Given the description of an element on the screen output the (x, y) to click on. 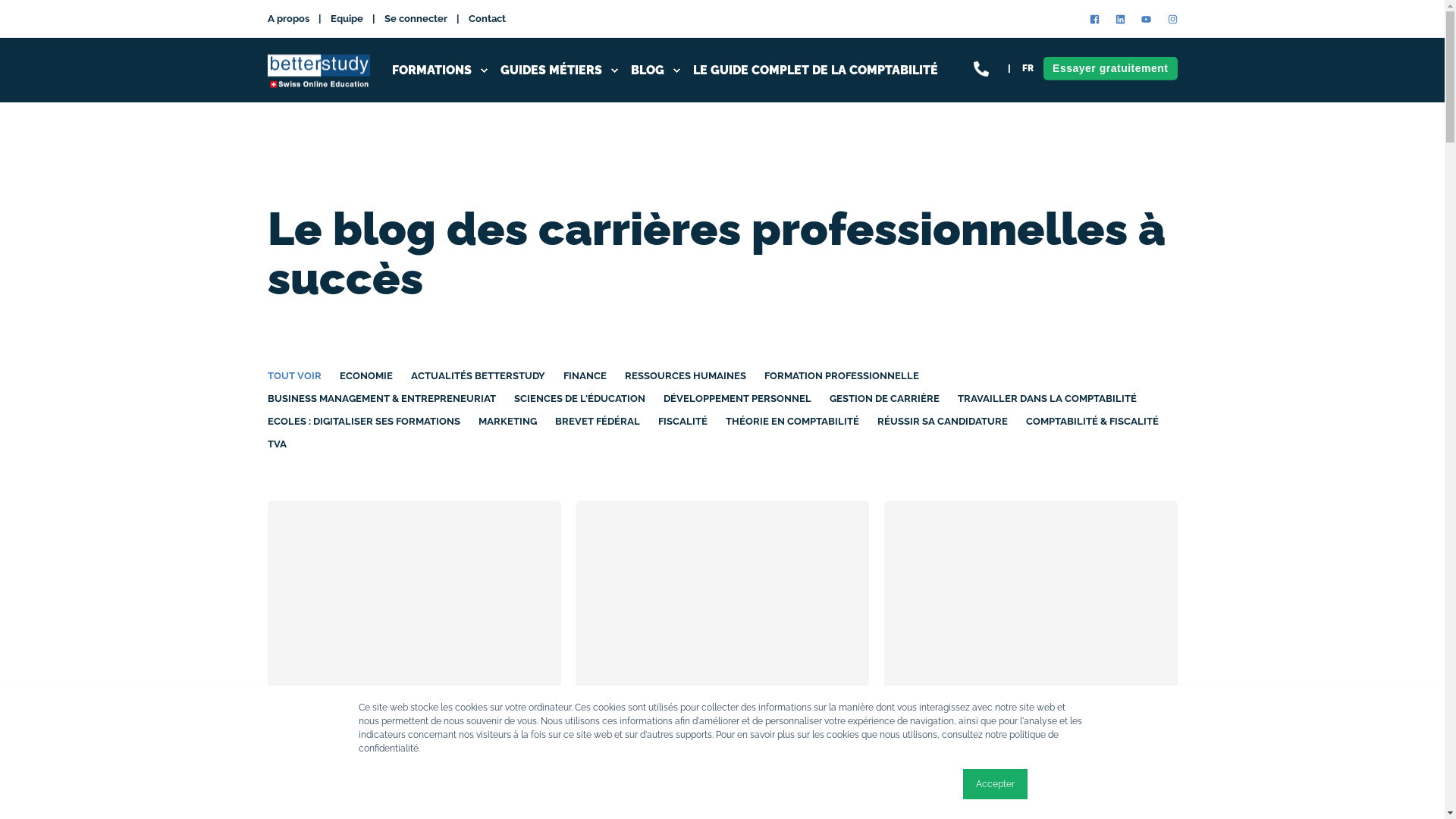
TOUT VOIR Element type: text (293, 375)
Essayer gratuitement Element type: text (1109, 68)
MARKETING Element type: text (506, 420)
Se connecter Element type: text (414, 18)
ECONOMIE Element type: text (365, 375)
FORMATION PROFESSIONNELLE Element type: text (841, 375)
ECOLES : DIGITALISER SES FORMATIONS Element type: text (362, 420)
Accepter Element type: text (995, 783)
TVA Element type: text (275, 443)
Equipe Element type: text (346, 18)
BUSINESS MANAGEMENT & ENTREPRENEURIAT Element type: text (380, 398)
Contact Element type: text (486, 18)
BLOG Element type: text (655, 69)
FORMATIONS Element type: text (439, 69)
A propos Element type: text (287, 18)
RESSOURCES HUMAINES Element type: text (685, 375)
FR Element type: text (1027, 67)
FINANCE Element type: text (583, 375)
